Given the description of an element on the screen output the (x, y) to click on. 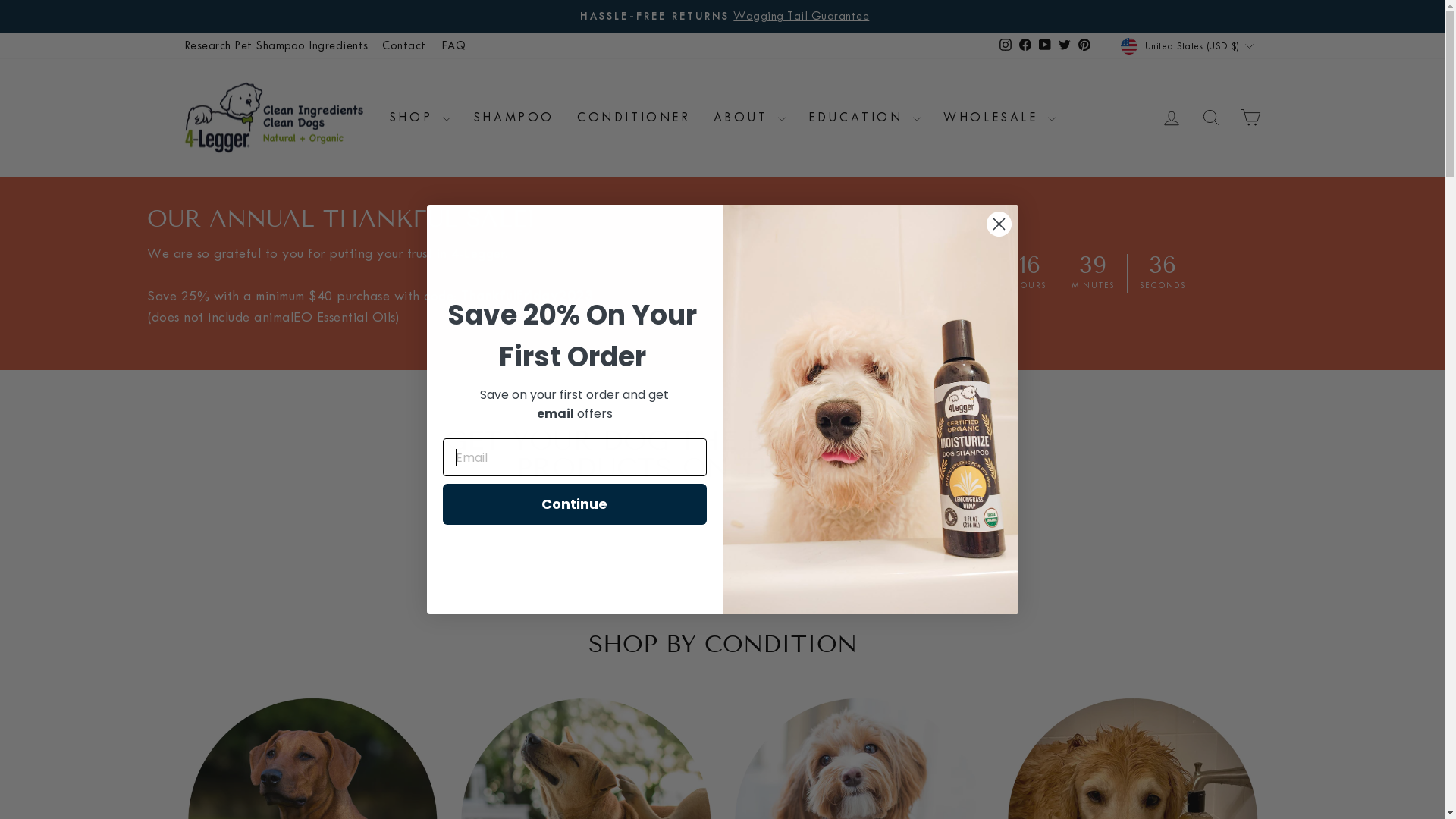
YouTube Element type: text (1044, 46)
Research Pet Shampoo Ingredients Element type: text (275, 46)
SHAMPOO Element type: text (513, 117)
twitter
Twitter Element type: text (1064, 46)
CART Element type: text (1249, 116)
United States (USD $) Element type: text (1189, 45)
instagram
Instagram Element type: text (1005, 46)
CONDITIONER Element type: text (633, 117)
Continue Element type: text (574, 503)
ICON-SEARCH
SEARCH Element type: text (1210, 116)
Facebook Element type: text (1025, 46)
Pinterest Element type: text (1084, 46)
Submit Element type: text (28, 17)
Contact Element type: text (403, 46)
FAQ Element type: text (453, 46)
ACCOUNT
LOG IN Element type: text (1170, 116)
